Given the description of an element on the screen output the (x, y) to click on. 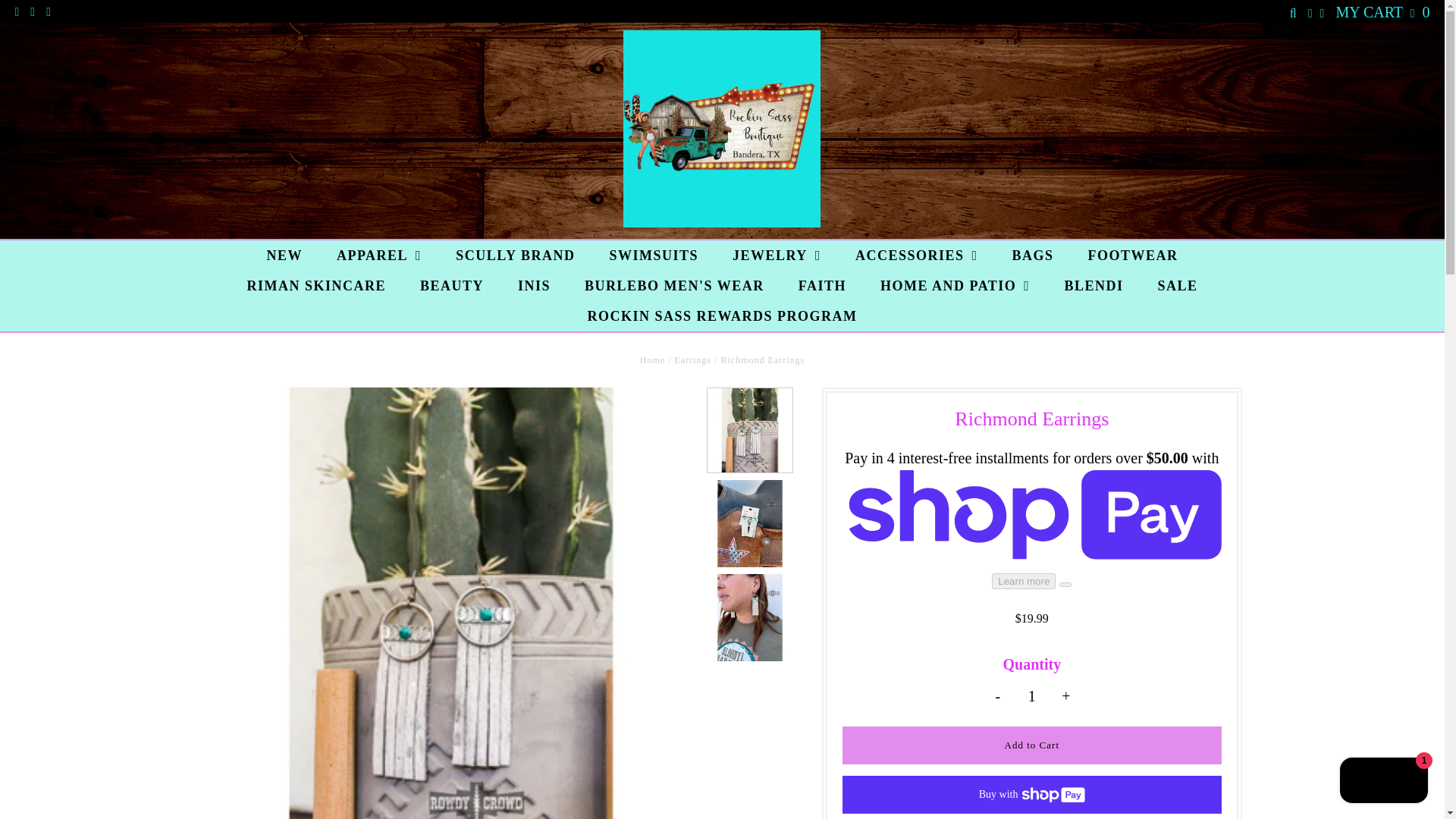
SCULLY BRAND (515, 255)
Add to Cart (1032, 745)
Earrings (693, 359)
SWIMSUITS (653, 255)
NEW (283, 255)
Home (652, 359)
JEWELRY (776, 255)
MY CART    0 (1382, 12)
APPAREL (378, 255)
ACCESSORIES (916, 255)
1 (1032, 695)
